Given the description of an element on the screen output the (x, y) to click on. 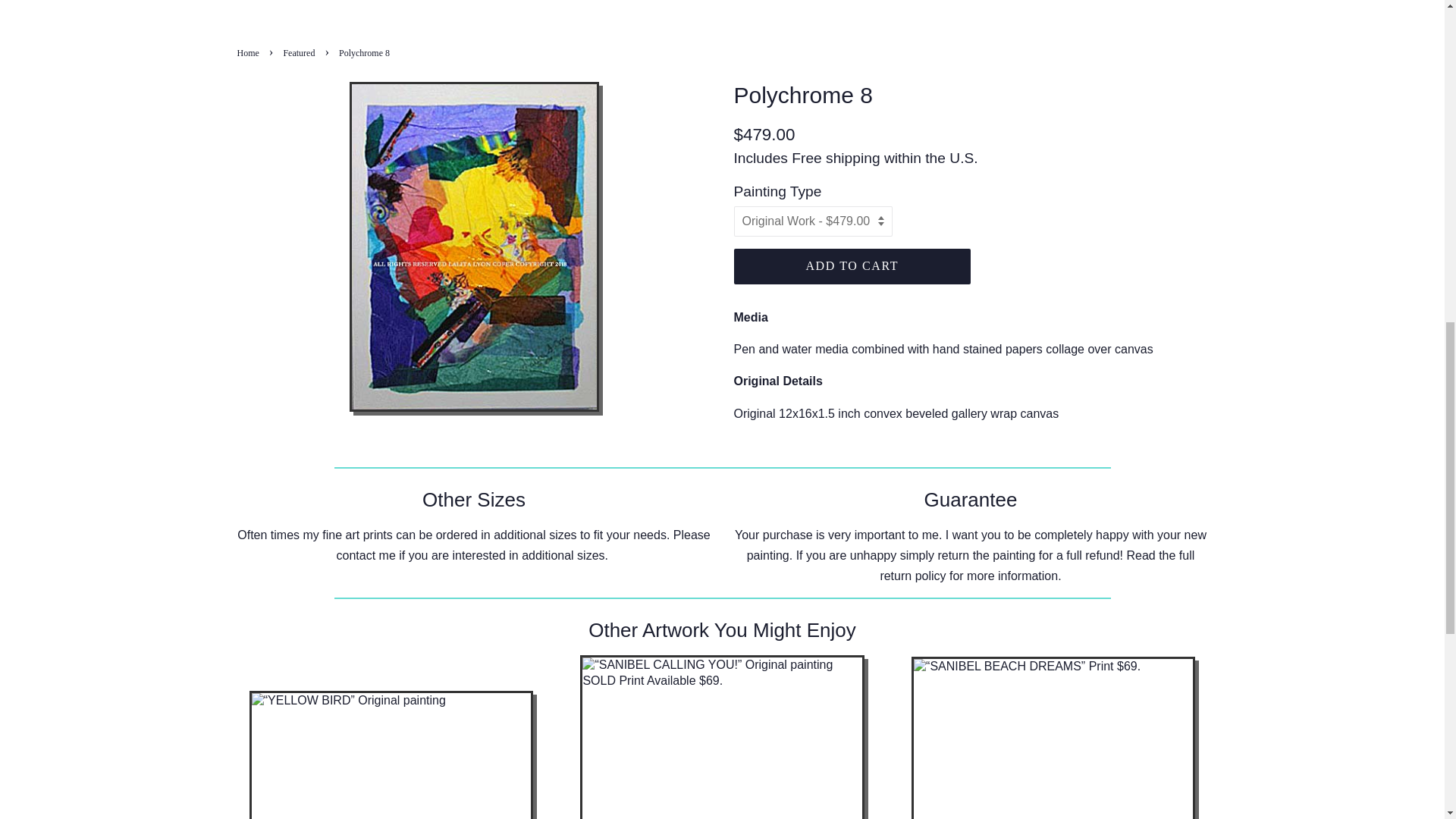
return policy (911, 575)
Contact Me (366, 554)
Featured (300, 52)
Back to the frontpage (248, 52)
Home (248, 52)
Return Policy (911, 575)
ADD TO CART (852, 266)
contact me (366, 554)
